Given the description of an element on the screen output the (x, y) to click on. 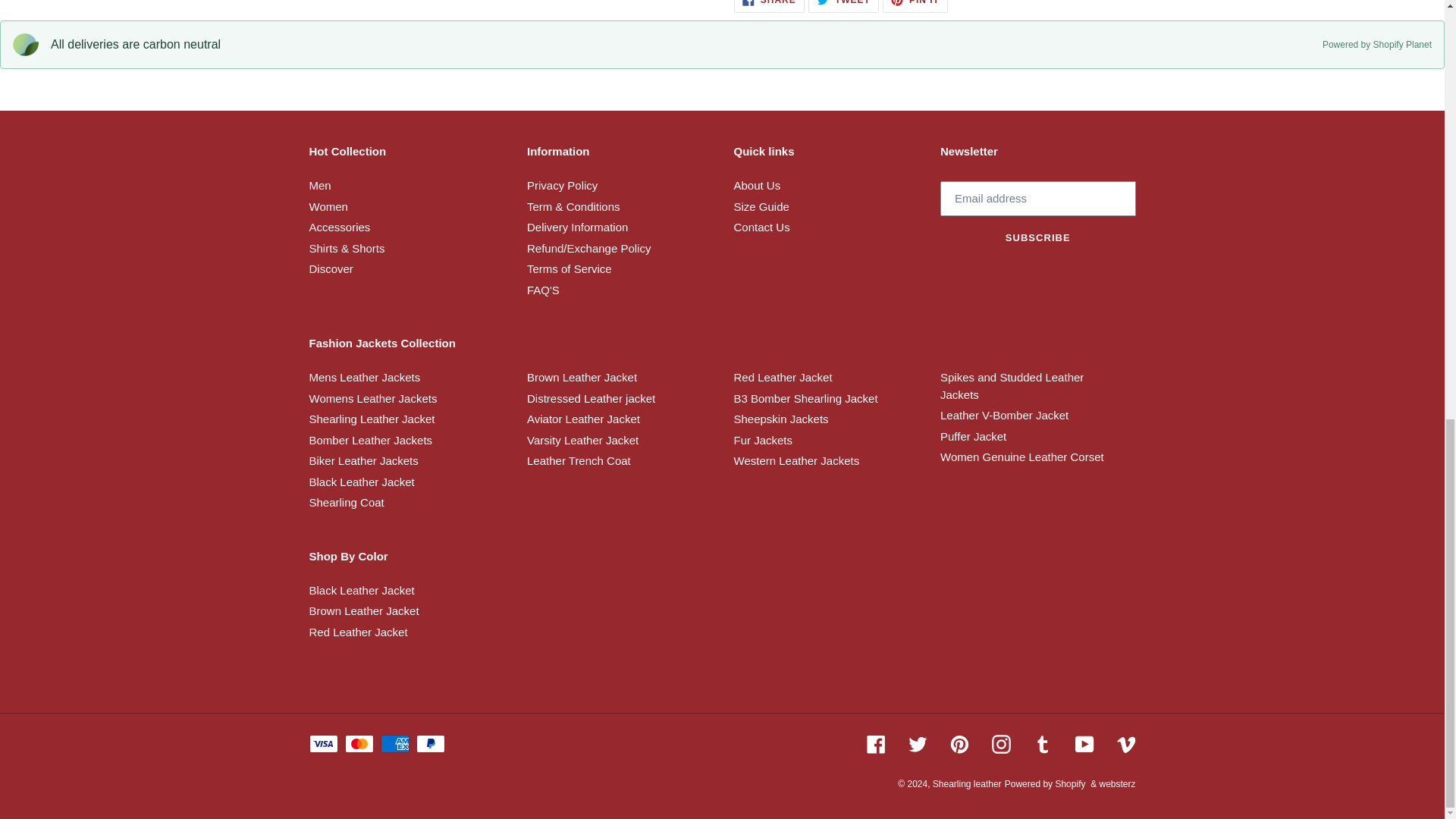
Shearling Leather Jacket (371, 418)
Western Leather Jackets (796, 460)
Womens Leather Jackets (373, 398)
Spikes and Studded Leather Jackets (1011, 386)
Leather Trench Coat (578, 460)
Distressed Leather jacket (591, 398)
Red Leather Jacket (782, 377)
Mens Leather Jackets (364, 377)
Puffer Jacket (973, 436)
Leather V-Bomber Jacket (1004, 414)
